Given the description of an element on the screen output the (x, y) to click on. 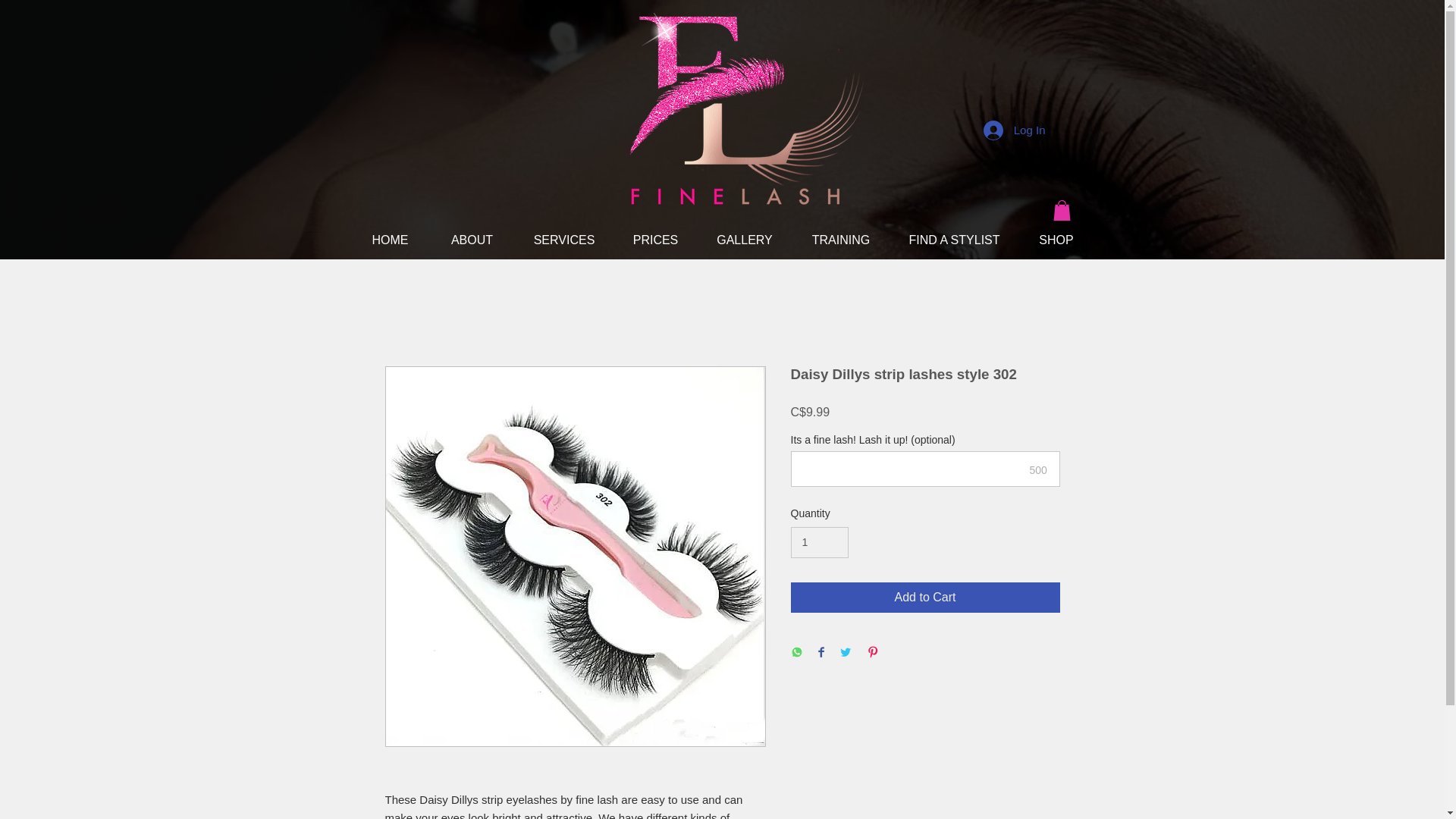
ABOUT (471, 240)
SHOP (1056, 240)
Log In (1014, 129)
FIND A STYLIST (954, 240)
PRICES (655, 240)
TRAINING (840, 240)
HOME (389, 240)
Add to Cart (924, 597)
GALLERY (744, 240)
1 (818, 542)
SERVICES (562, 240)
